Given the description of an element on the screen output the (x, y) to click on. 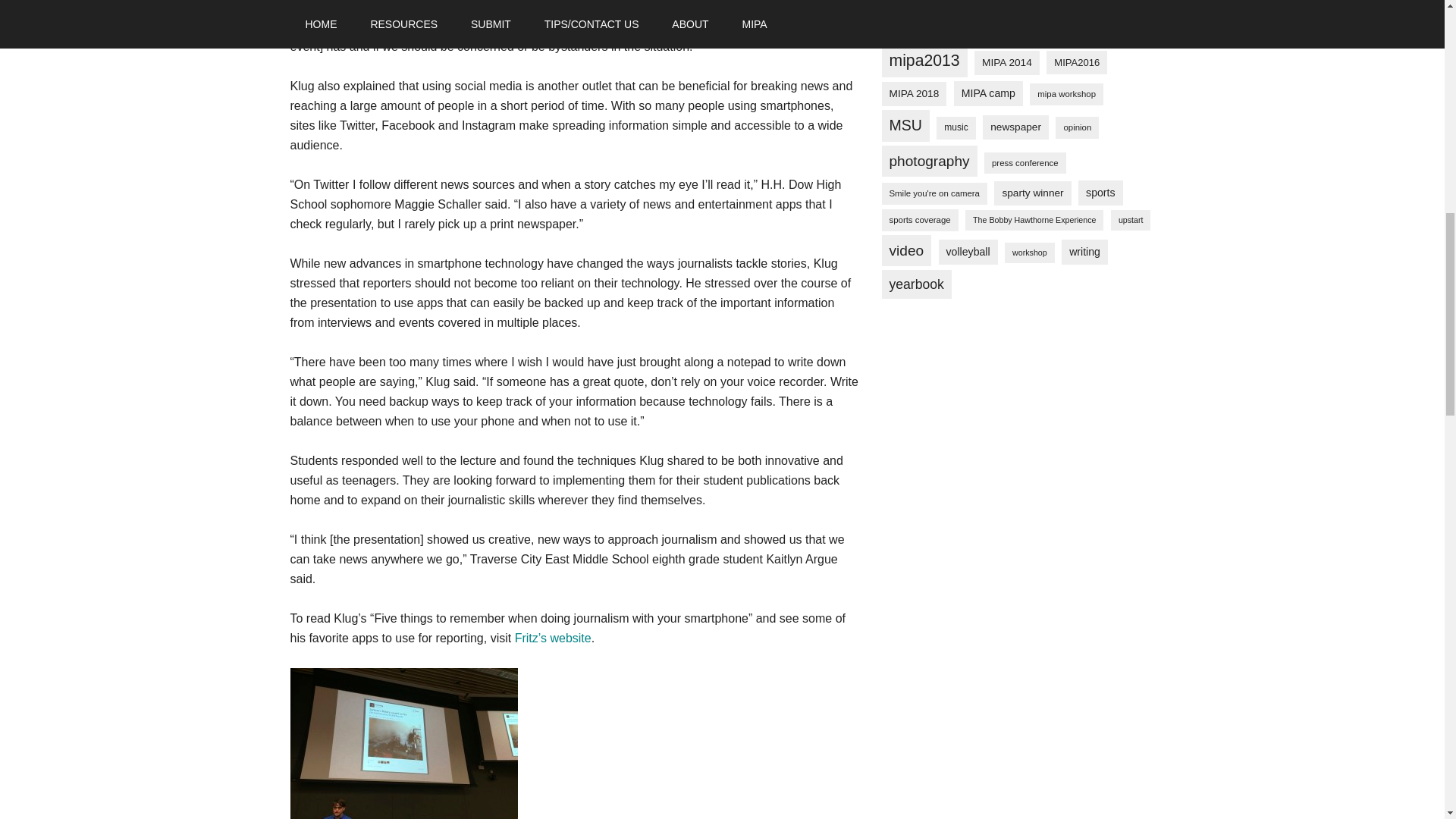
Fritz's website (553, 637)
